Given the description of an element on the screen output the (x, y) to click on. 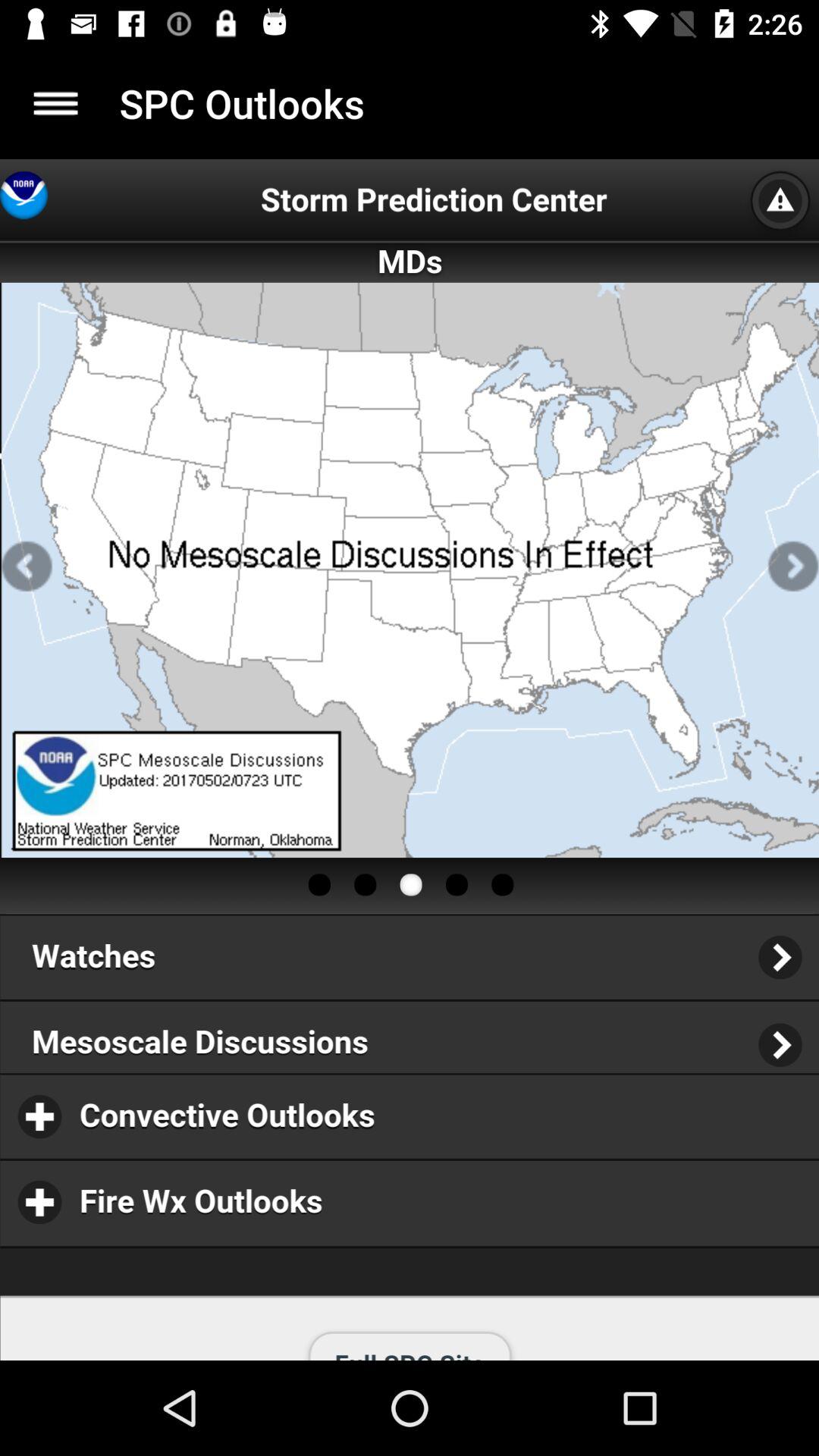
go to menu options (55, 103)
